Given the description of an element on the screen output the (x, y) to click on. 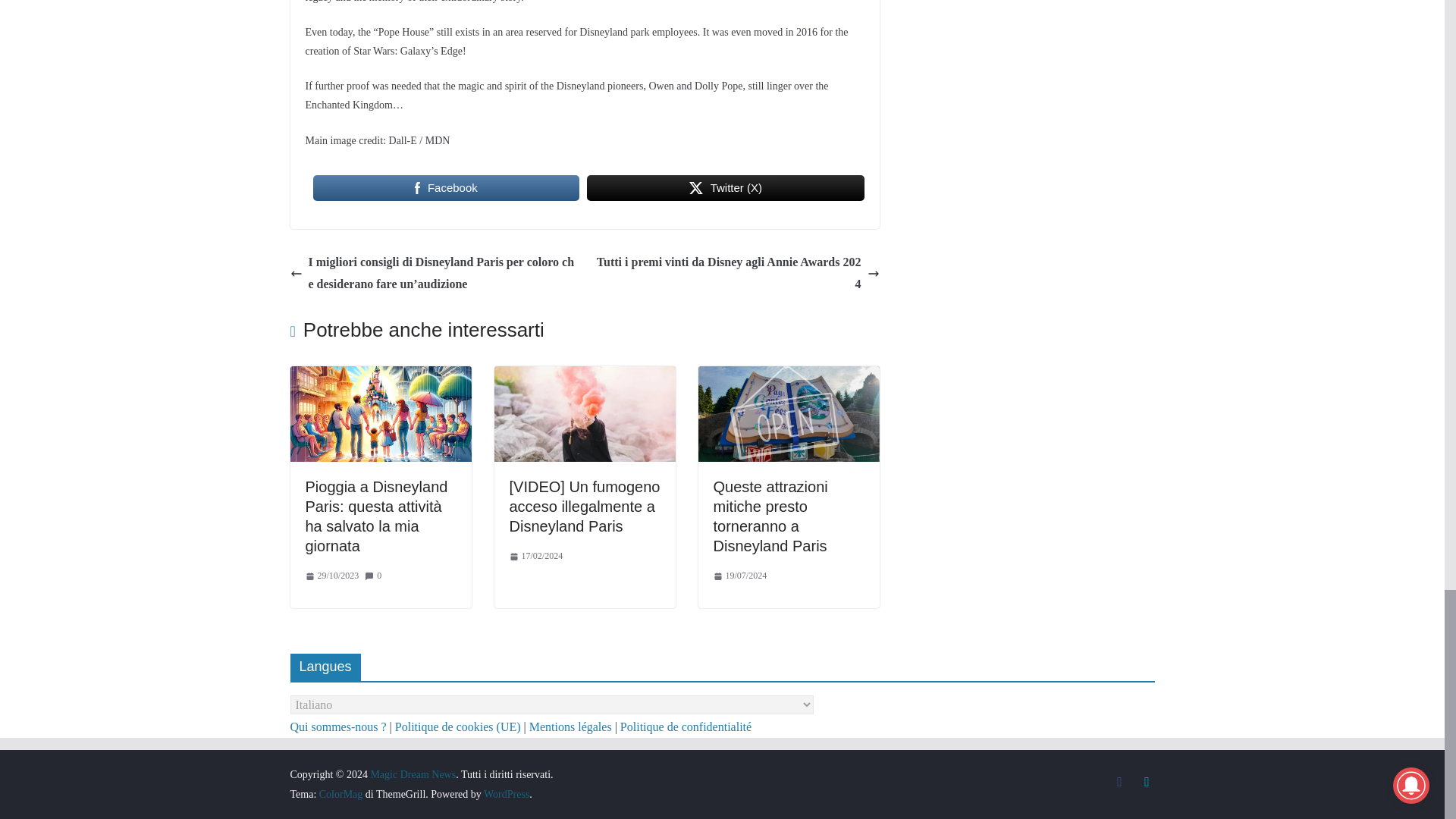
Insolito: Questa coppia viveva tutto l'anno a Disneyland 3 (695, 187)
13:44 (331, 576)
Qui sommes-nous ? (337, 726)
Tutti i premi vinti da Disney agli Annie Awards 2024 (735, 273)
Facebook (446, 187)
